Given the description of an element on the screen output the (x, y) to click on. 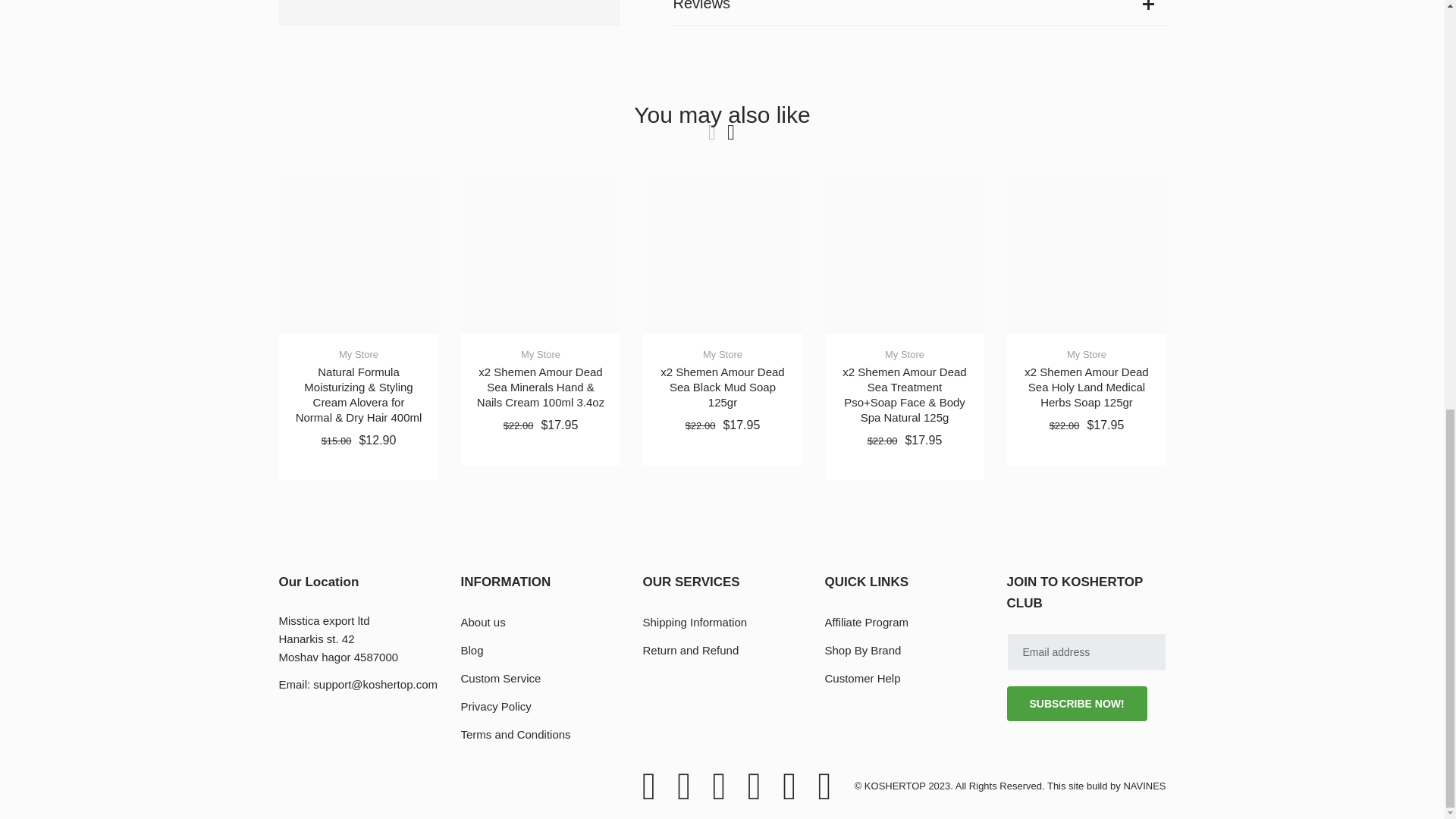
Next (730, 132)
Previous (711, 132)
x2 Shemen Amour Dead Sea Black Mud Soap 125gr (722, 253)
You may also like (721, 114)
x2 Shemen Amour Dead Sea Holy Land Medical Herbs Soap 125gr (1086, 386)
View all (721, 114)
Reviews (919, 12)
x2 Shemen Amour Dead Sea Holy Land Medical Herbs Soap 125gr (1086, 253)
x2 Shemen Amour Dead Sea Black Mud Soap 125gr (722, 386)
